Given the description of an element on the screen output the (x, y) to click on. 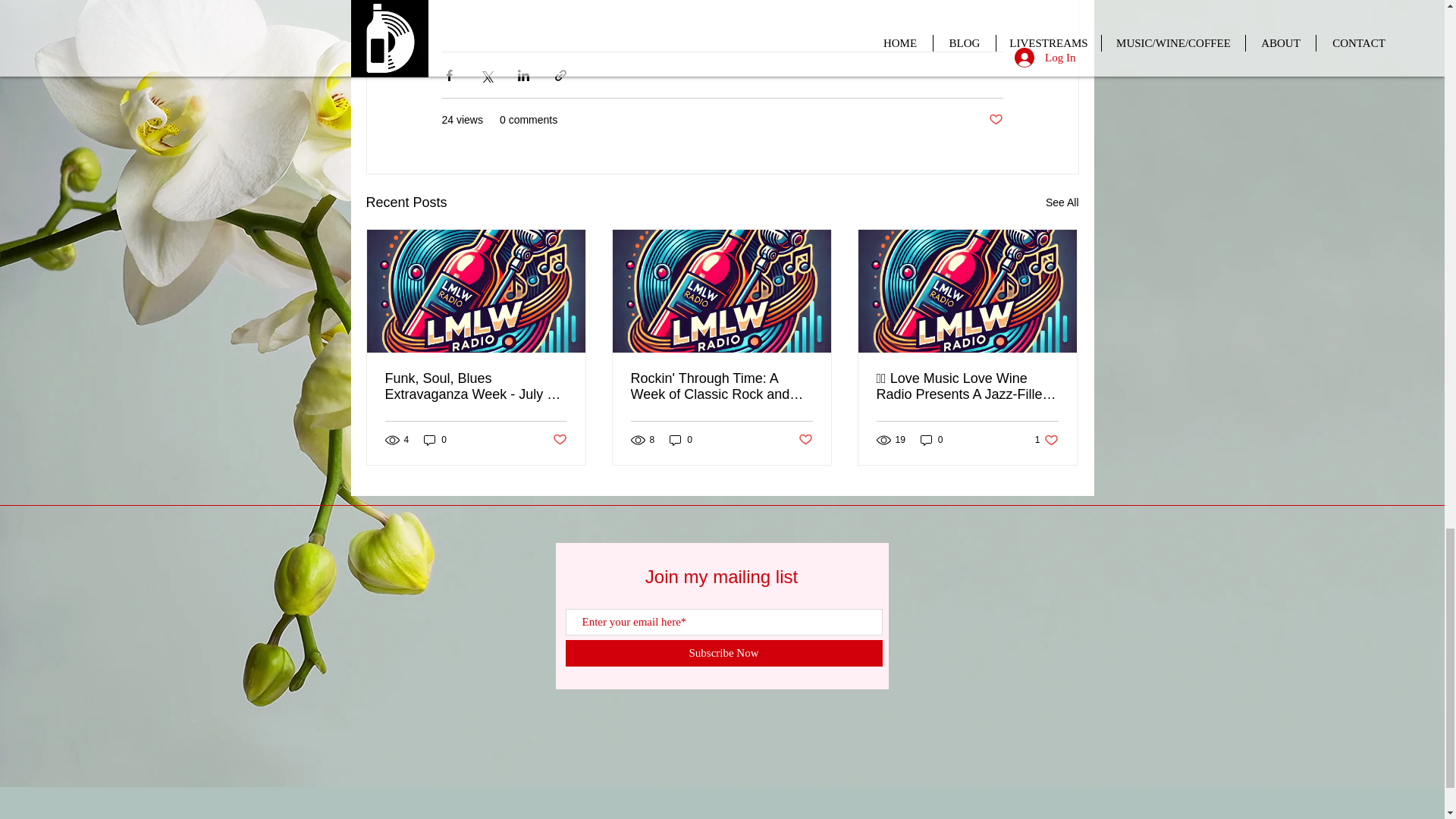
Post not marked as liked (1046, 439)
0 (995, 119)
Post not marked as liked (681, 439)
Post not marked as liked (558, 439)
0 (804, 439)
0 (435, 439)
See All (931, 439)
Funk, Soul, Blues Extravaganza Week - July 22-28! (1061, 202)
